Given the description of an element on the screen output the (x, y) to click on. 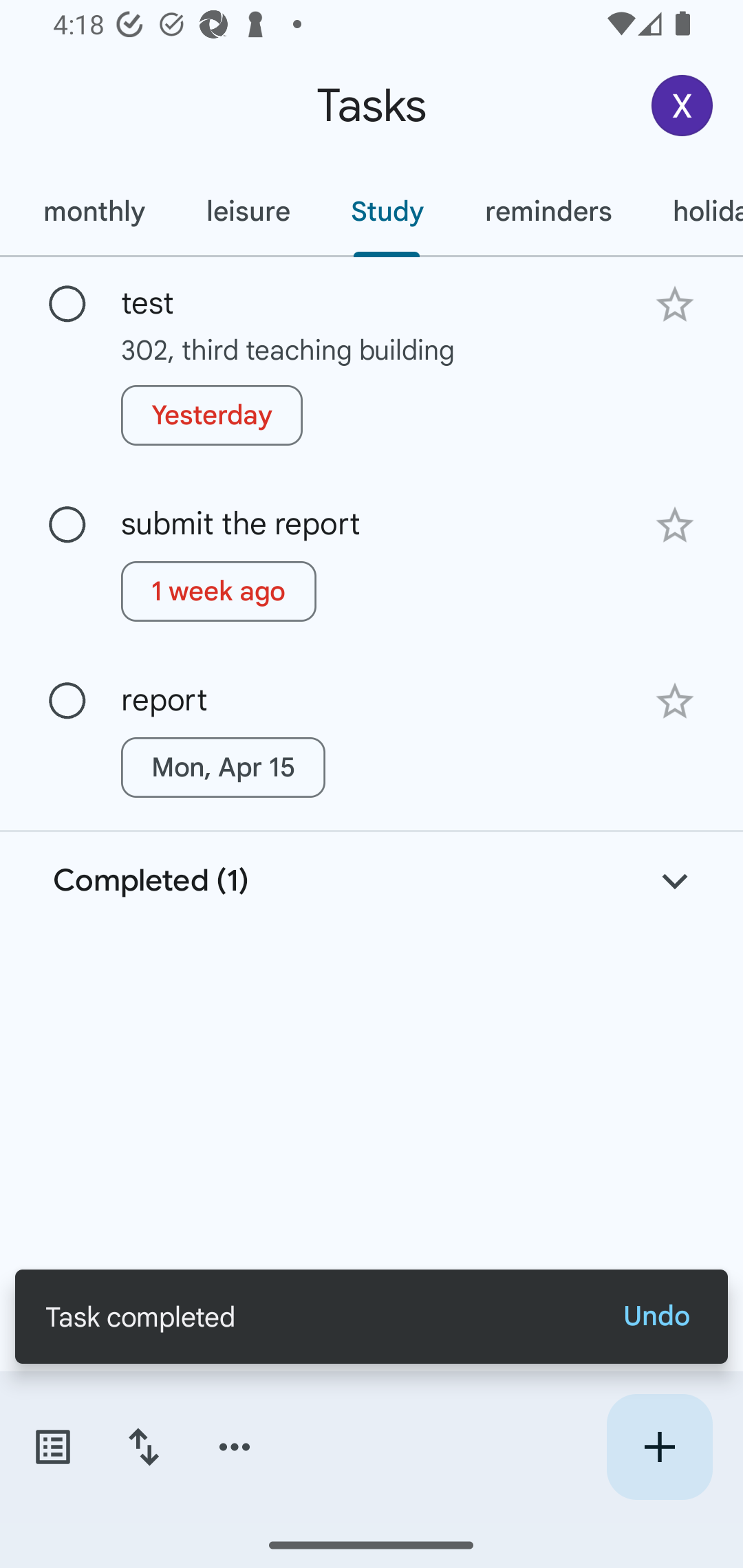
monthly (93, 211)
leisure (247, 211)
reminders (547, 211)
holiday planning (692, 211)
Add star (674, 303)
Mark as complete (67, 304)
302, third teaching building (371, 349)
Yesterday (211, 415)
Add star (674, 524)
Mark as complete (67, 525)
1 week ago (218, 590)
Add star (674, 700)
Mark as complete (67, 701)
Mon, Apr 15 (223, 767)
Completed (1) (371, 880)
Undo (656, 1316)
Switch task lists (52, 1447)
Create new task (659, 1446)
Change sort order (143, 1446)
More options (234, 1446)
